Given the description of an element on the screen output the (x, y) to click on. 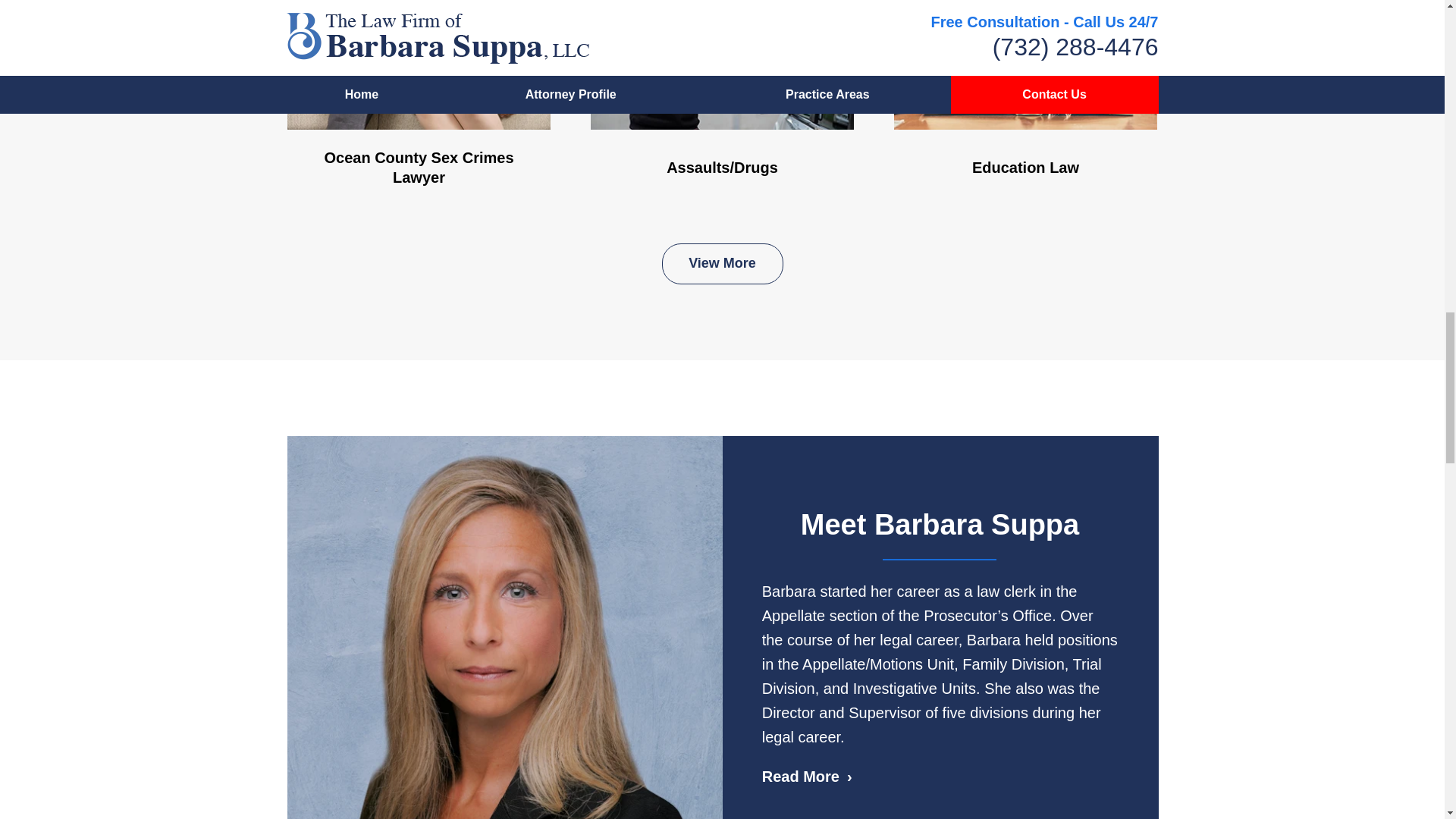
View More (722, 263)
Education Law (1025, 103)
Read More (806, 776)
Ocean County Sex Crimes Lawyer (418, 103)
